Given the description of an element on the screen output the (x, y) to click on. 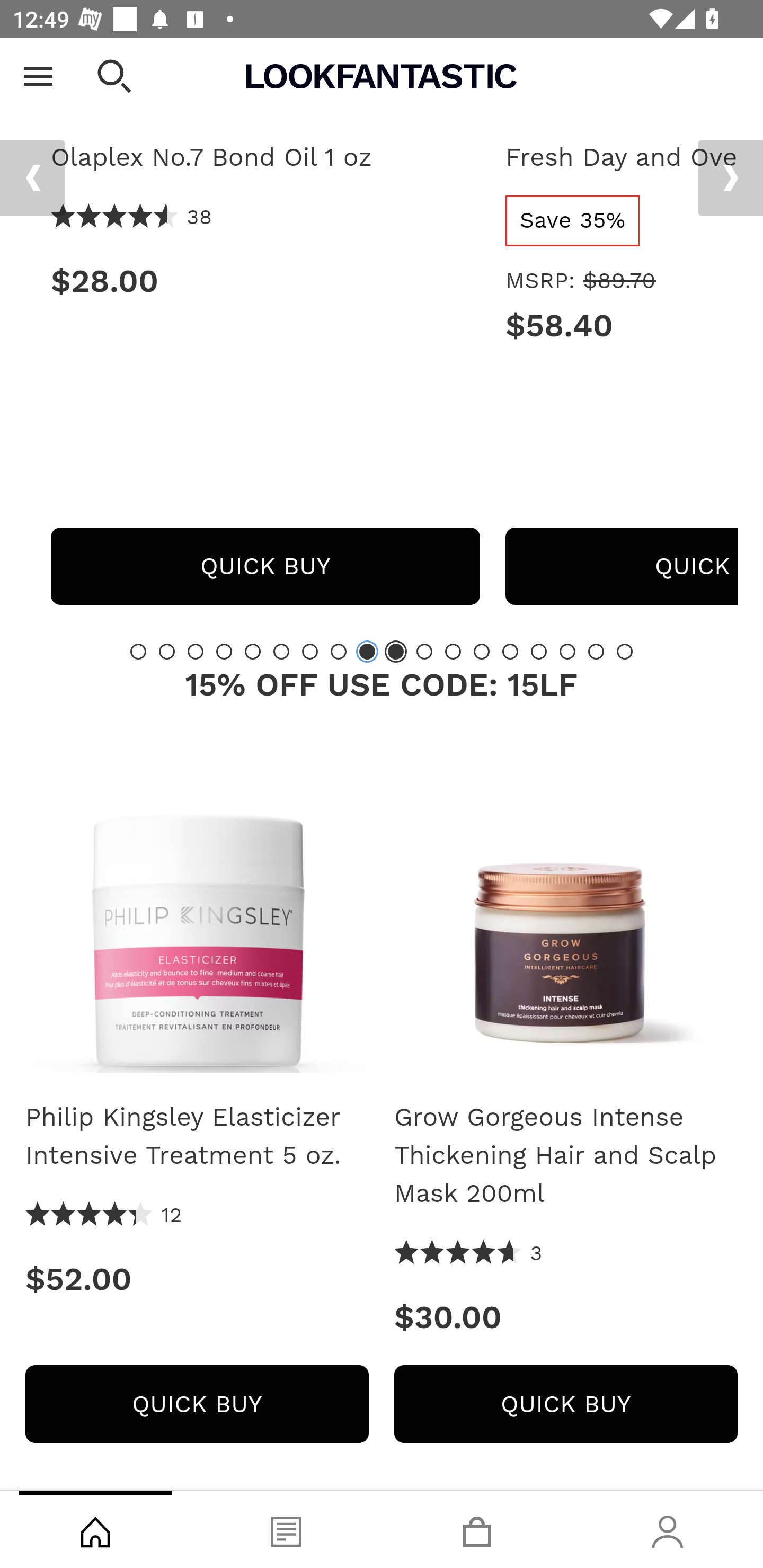
Olaplex No.7 Bond Oil 1 oz (265, 158)
Fresh Day and Overnight Mask Set (621, 158)
Previous (32, 178)
Next (730, 178)
Save 35%, read more (572, 221)
4.58 Stars 38 Reviews (131, 218)
Price: $28.00 (265, 281)
QUICK BUY OLAPLEX NO.7 BOND OIL 1 OZ (265, 566)
Slide 1 (138, 651)
Slide 2 (166, 651)
Slide 3 (195, 651)
Slide 4 (223, 651)
Slide 5 (252, 651)
Slide 6 (281, 651)
Slide 7 (310, 651)
Slide 8 (338, 651)
Showing Slide 9 (Current Item) (367, 651)
Showing Slide 10 (Current Item) (395, 651)
Slide 11 (424, 651)
Slide 12 (452, 651)
Slide 13 (481, 651)
Slide 14 (510, 651)
Slide 15 (539, 651)
Slide 16 (567, 651)
Slide 17 (596, 651)
Slide 18 (624, 651)
4.33 Stars 12 Reviews (104, 1215)
4.67 Stars 3 Reviews (468, 1254)
Price: $52.00 (196, 1280)
Price: $30.00 (565, 1317)
Shop, tab, 1 of 4 (95, 1529)
Blog, tab, 2 of 4 (285, 1529)
Basket, tab, 3 of 4 (476, 1529)
Account, tab, 4 of 4 (667, 1529)
